Given the description of an element on the screen output the (x, y) to click on. 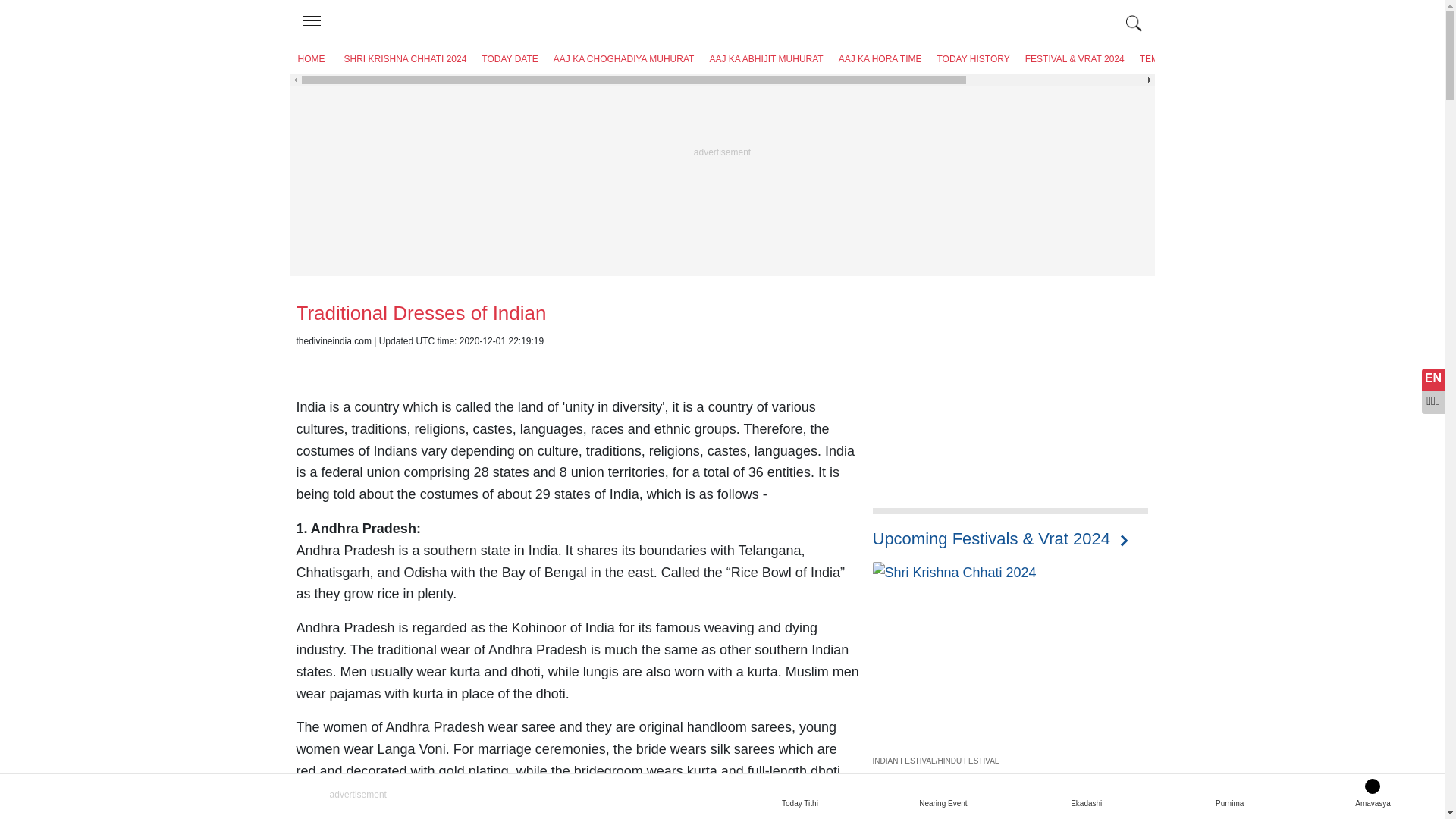
AAJ KA ABHIJIT MUHURAT (765, 59)
Share on WhatsApp (410, 365)
Share on facebook (306, 365)
Share on twitter (341, 365)
Share on Pinterest (376, 365)
AARTIS (1213, 59)
AAJ KA HORA TIME (880, 59)
TODAY HISTORY (972, 59)
Shri Krishna Chhati 2024 (953, 572)
Shri Krishna Chhati 2024 (1010, 685)
